Given the description of an element on the screen output the (x, y) to click on. 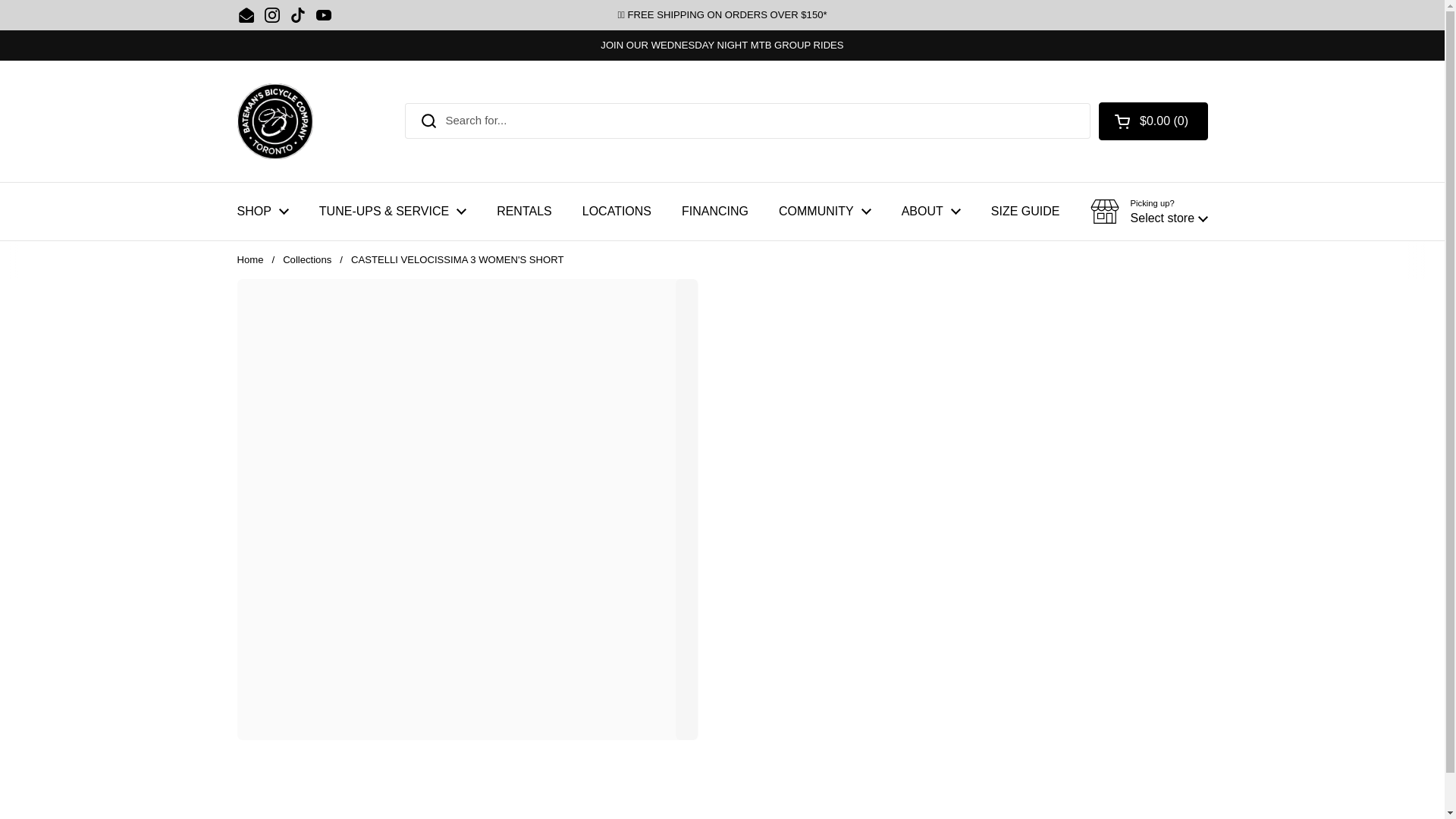
TikTok (296, 14)
Instagram (271, 14)
SHOP (261, 211)
YouTube (322, 14)
JOIN OUR WEDNESDAY NIGHT MTB GROUP RIDES (721, 45)
Email (244, 14)
Open cart (1153, 121)
Bateman's Bicycle Company (274, 120)
SHOP (261, 211)
